Given the description of an element on the screen output the (x, y) to click on. 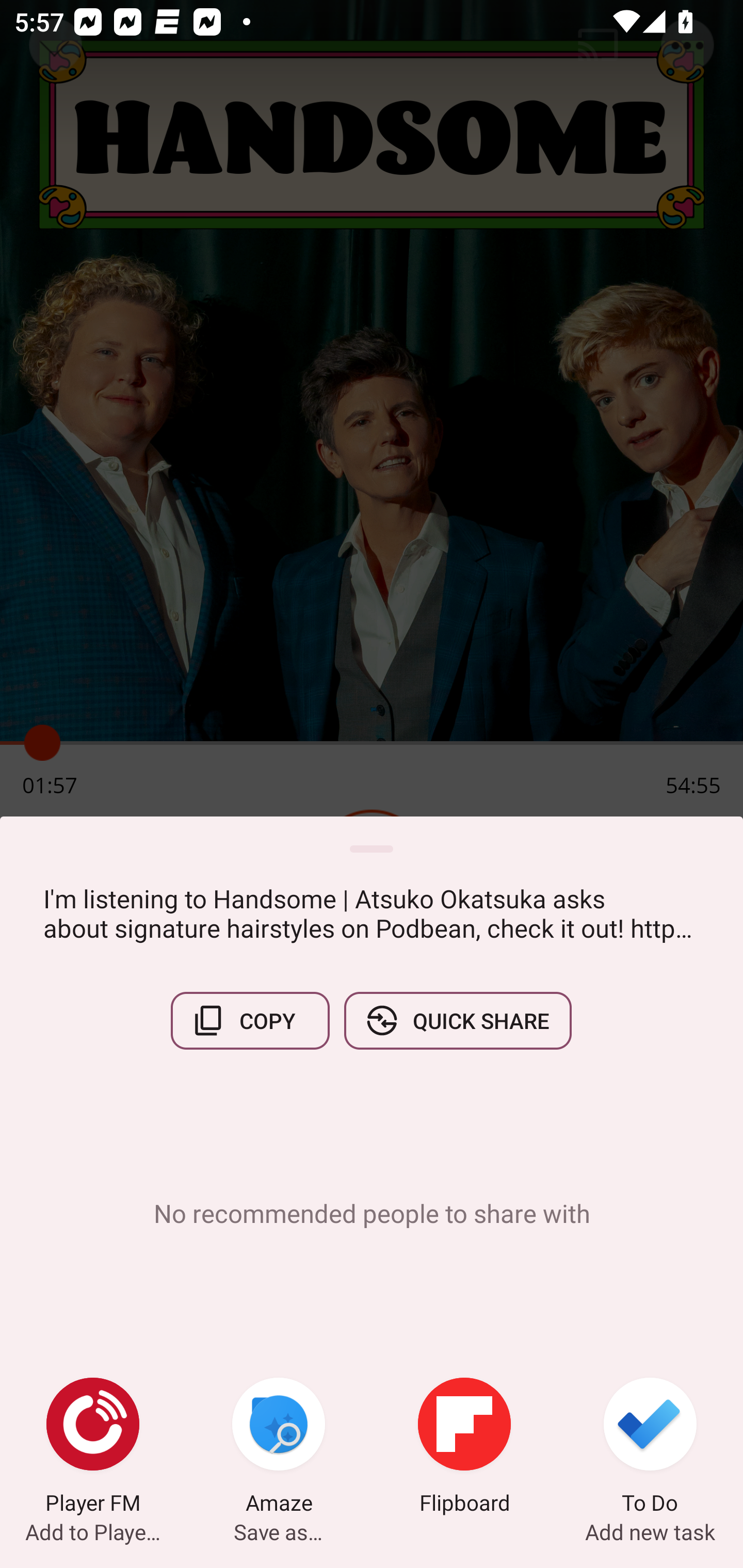
COPY (249, 1020)
QUICK SHARE (457, 1020)
Player FM Add to Player FM (92, 1448)
Amaze Save as… (278, 1448)
Flipboard (464, 1448)
To Do Add new task (650, 1448)
